Given the description of an element on the screen output the (x, y) to click on. 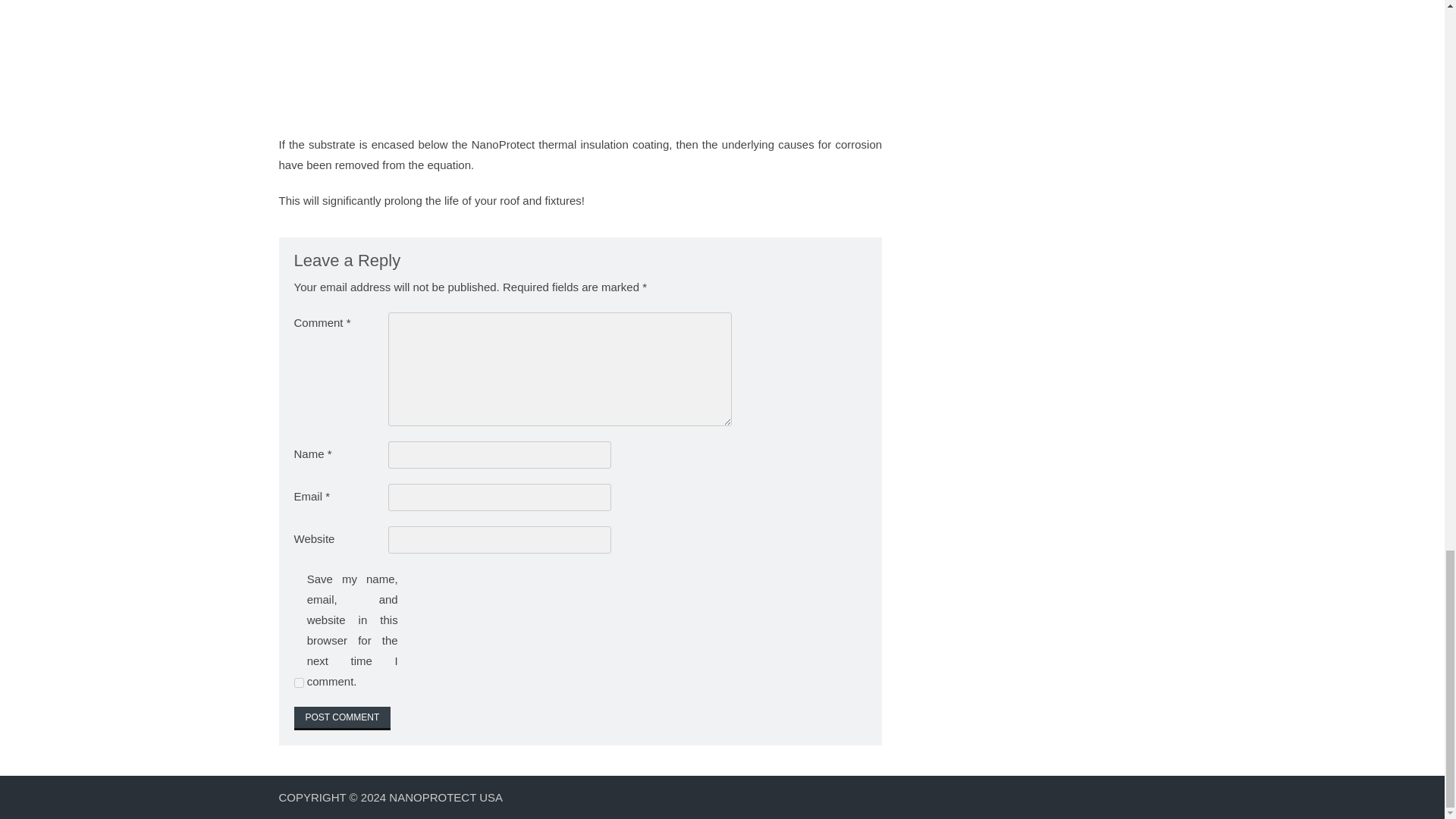
Post Comment (342, 718)
yes (299, 682)
Post Comment (342, 718)
NANOPROTECT USA (445, 797)
